Given the description of an element on the screen output the (x, y) to click on. 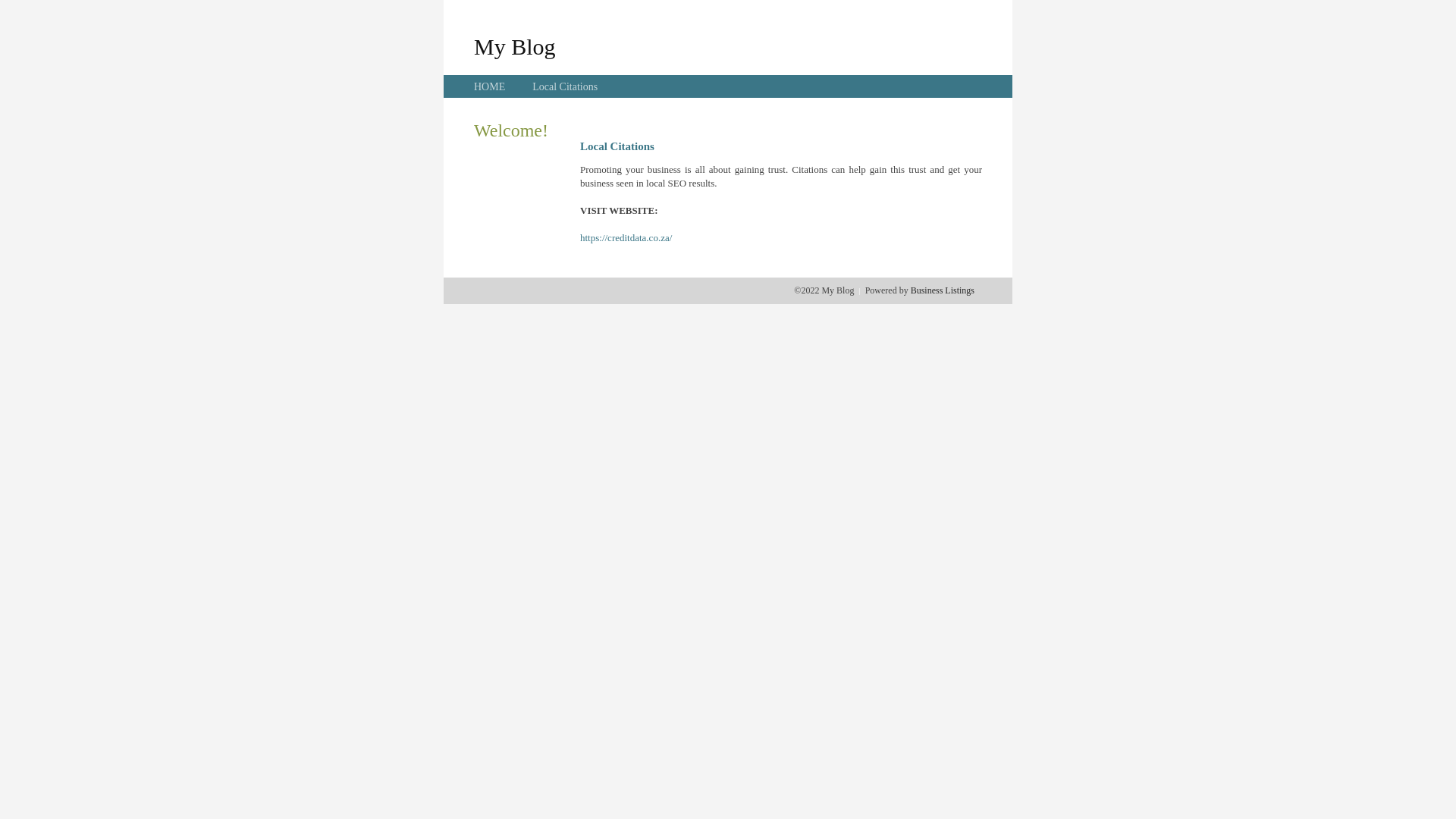
https://creditdata.co.za/ Element type: text (625, 237)
Local Citations Element type: text (564, 86)
My Blog Element type: text (514, 46)
Business Listings Element type: text (942, 290)
HOME Element type: text (489, 86)
